Given the description of an element on the screen output the (x, y) to click on. 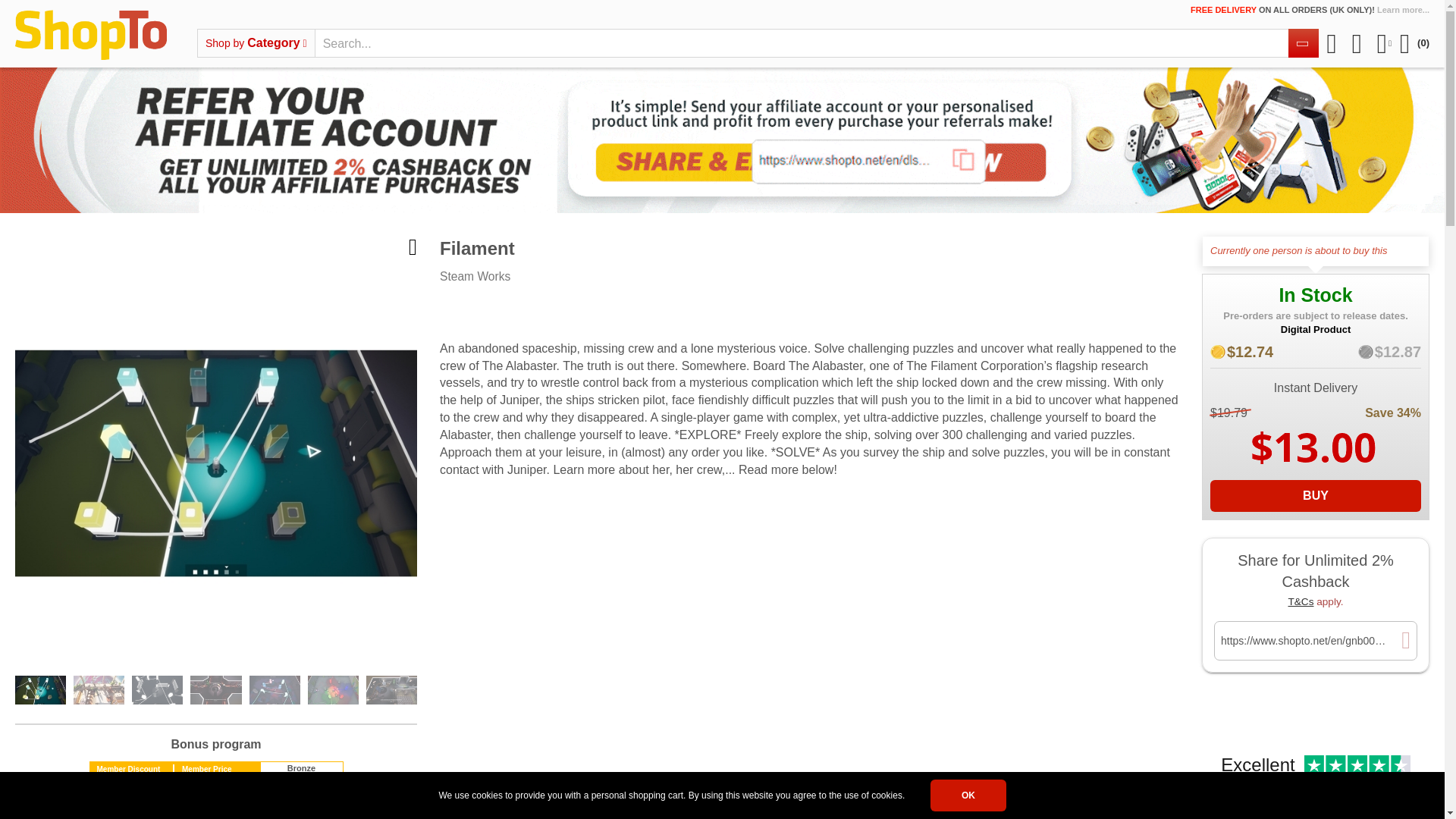
Customer reviews powered by Trustpilot (1315, 780)
Referral Link (1307, 640)
Customer reviews powered by Trustpilot (545, 320)
